Given the description of an element on the screen output the (x, y) to click on. 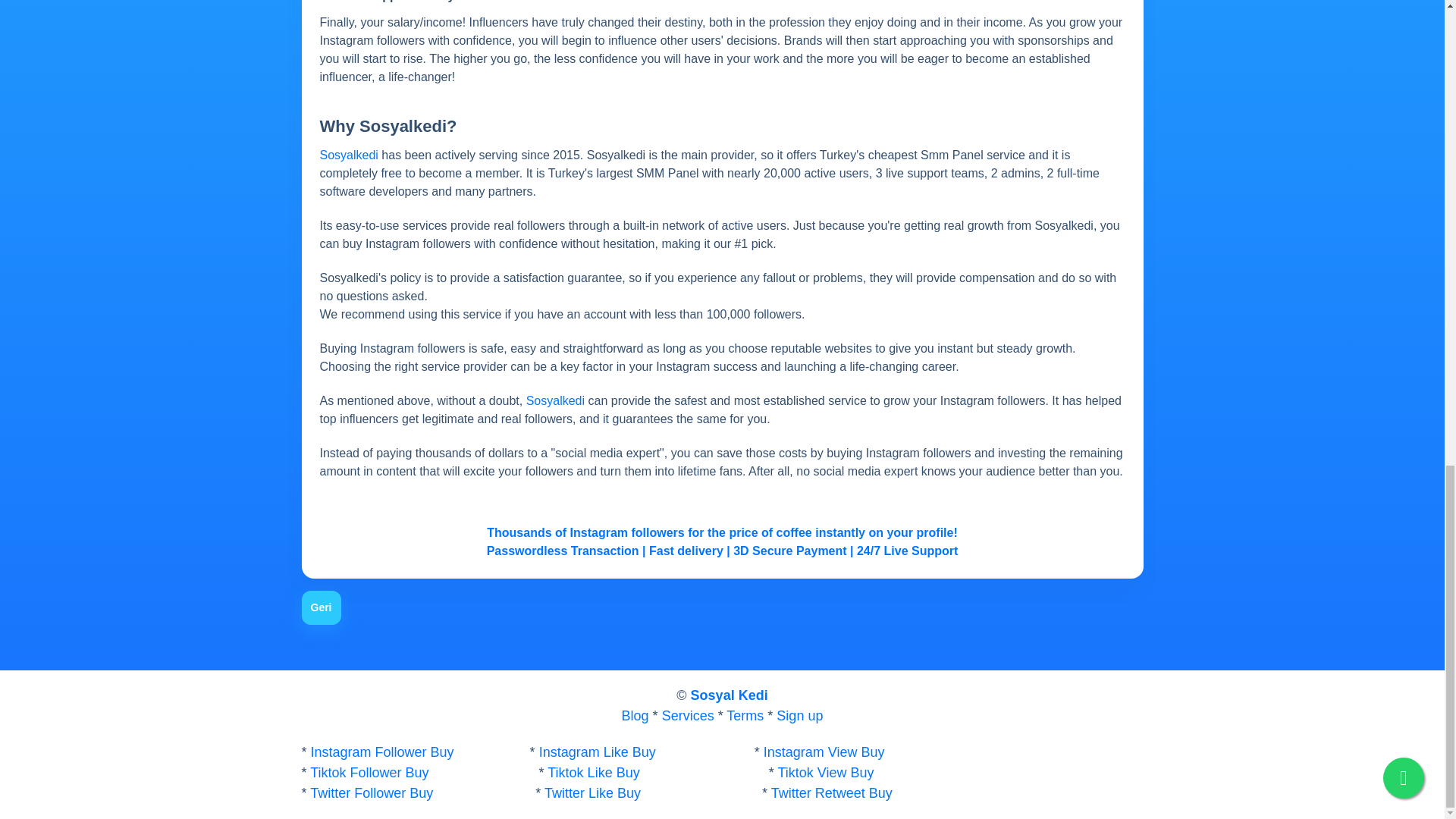
Instagram Follower Buy (382, 752)
Sosyal Kedi (729, 695)
Twitter Follower Buy (371, 793)
Blog (635, 716)
Sosyalkedi (555, 400)
Tiktok Follower Buy (369, 773)
Sosyalkedi (350, 155)
Twitter Retweet Buy (831, 793)
Sign up (799, 716)
Tiktok Like Buy (593, 773)
Geri (320, 607)
Twitter Like Buy (592, 793)
Terms (746, 716)
Instagram View Buy (822, 752)
